Given the description of an element on the screen output the (x, y) to click on. 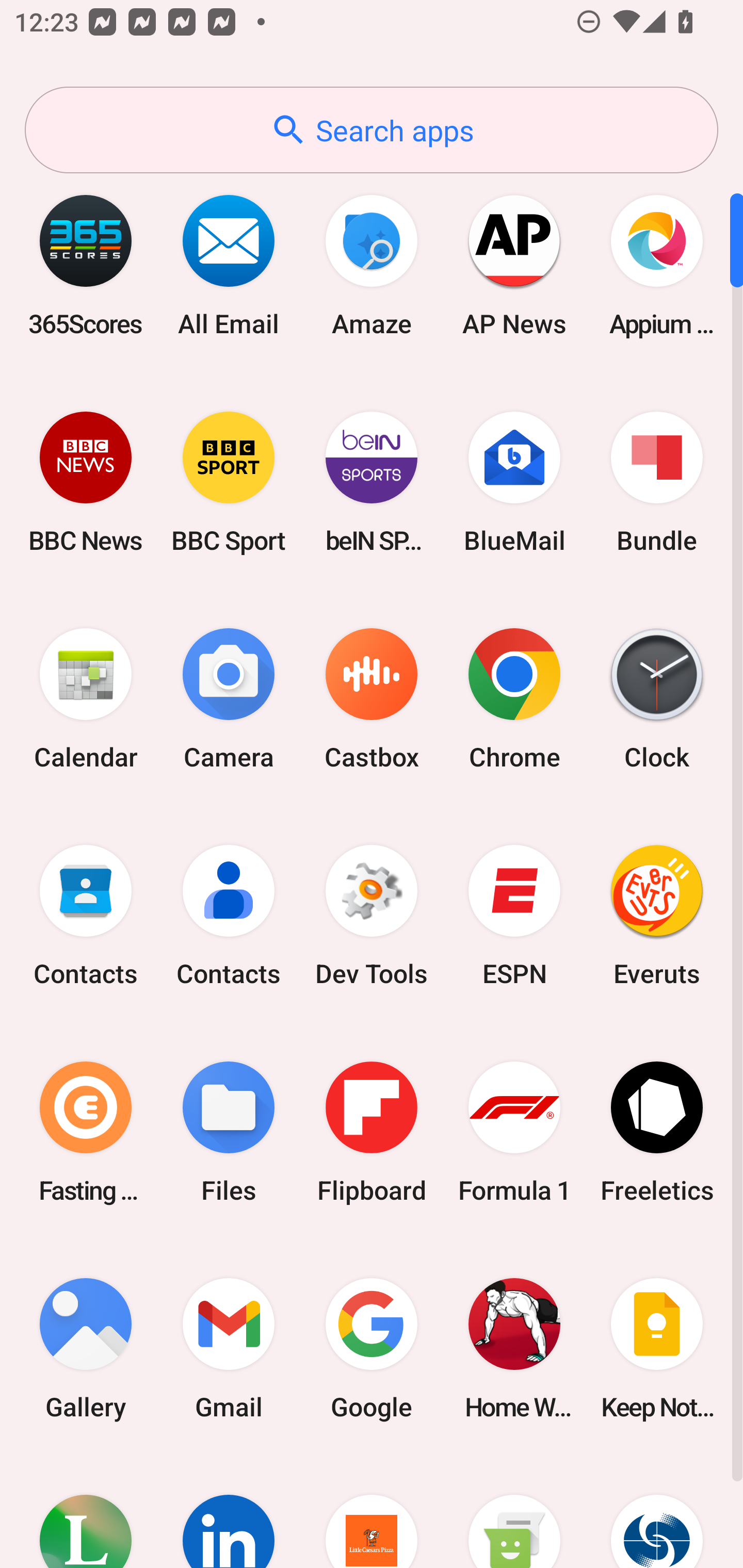
  Search apps (371, 130)
365Scores (85, 264)
All Email (228, 264)
Amaze (371, 264)
AP News (514, 264)
Appium Settings (656, 264)
BBC News (85, 482)
BBC Sport (228, 482)
beIN SPORTS (371, 482)
BlueMail (514, 482)
Bundle (656, 482)
Calendar (85, 699)
Camera (228, 699)
Castbox (371, 699)
Chrome (514, 699)
Clock (656, 699)
Contacts (85, 915)
Contacts (228, 915)
Dev Tools (371, 915)
ESPN (514, 915)
Everuts (656, 915)
Fasting Coach (85, 1131)
Files (228, 1131)
Flipboard (371, 1131)
Formula 1 (514, 1131)
Freeletics (656, 1131)
Gallery (85, 1348)
Gmail (228, 1348)
Google (371, 1348)
Home Workout (514, 1348)
Keep Notes (656, 1348)
